Given the description of an element on the screen output the (x, y) to click on. 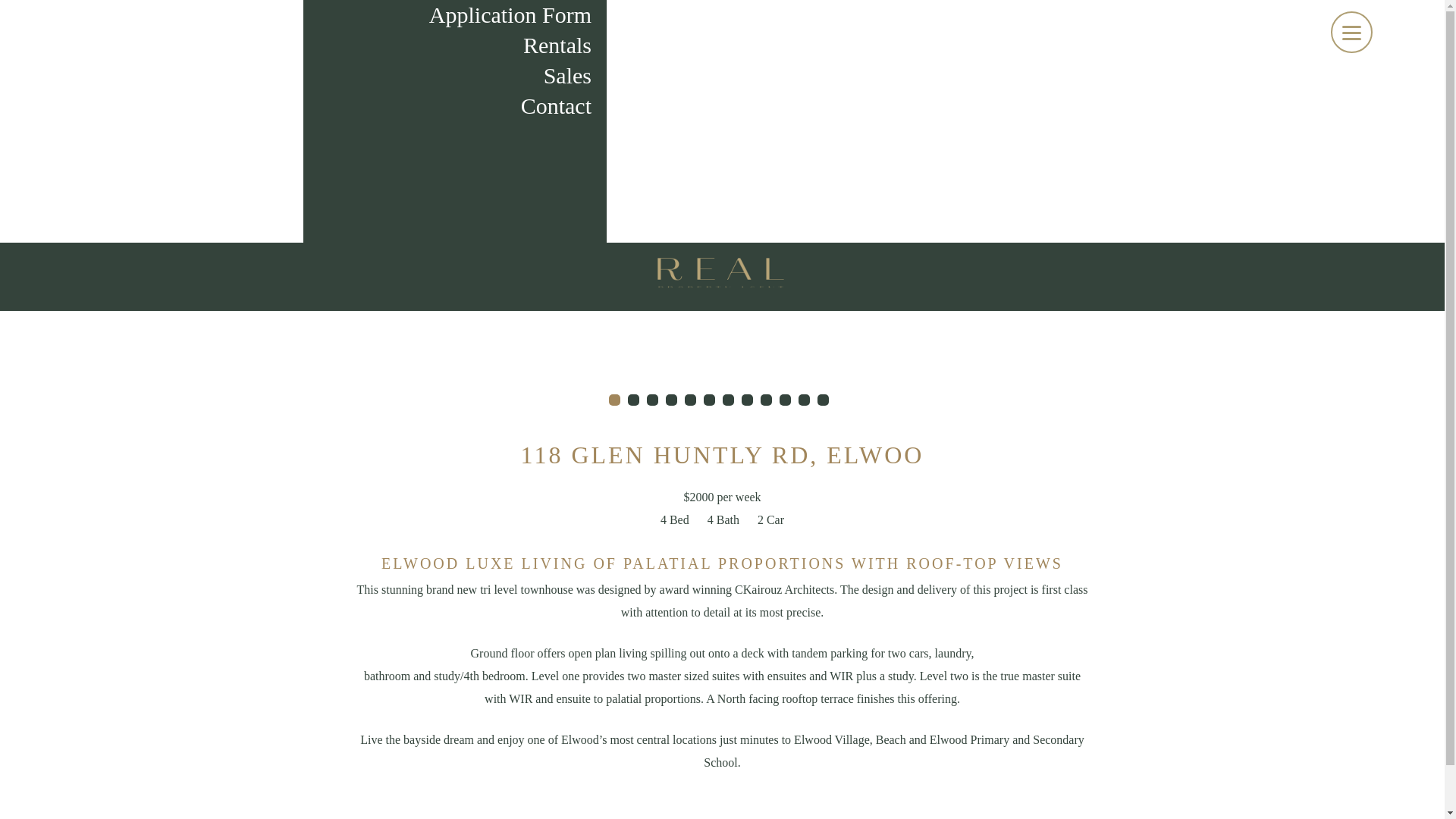
Sales (454, 75)
Rentals (454, 45)
Application Form (454, 15)
Contact (454, 105)
